Given the description of an element on the screen output the (x, y) to click on. 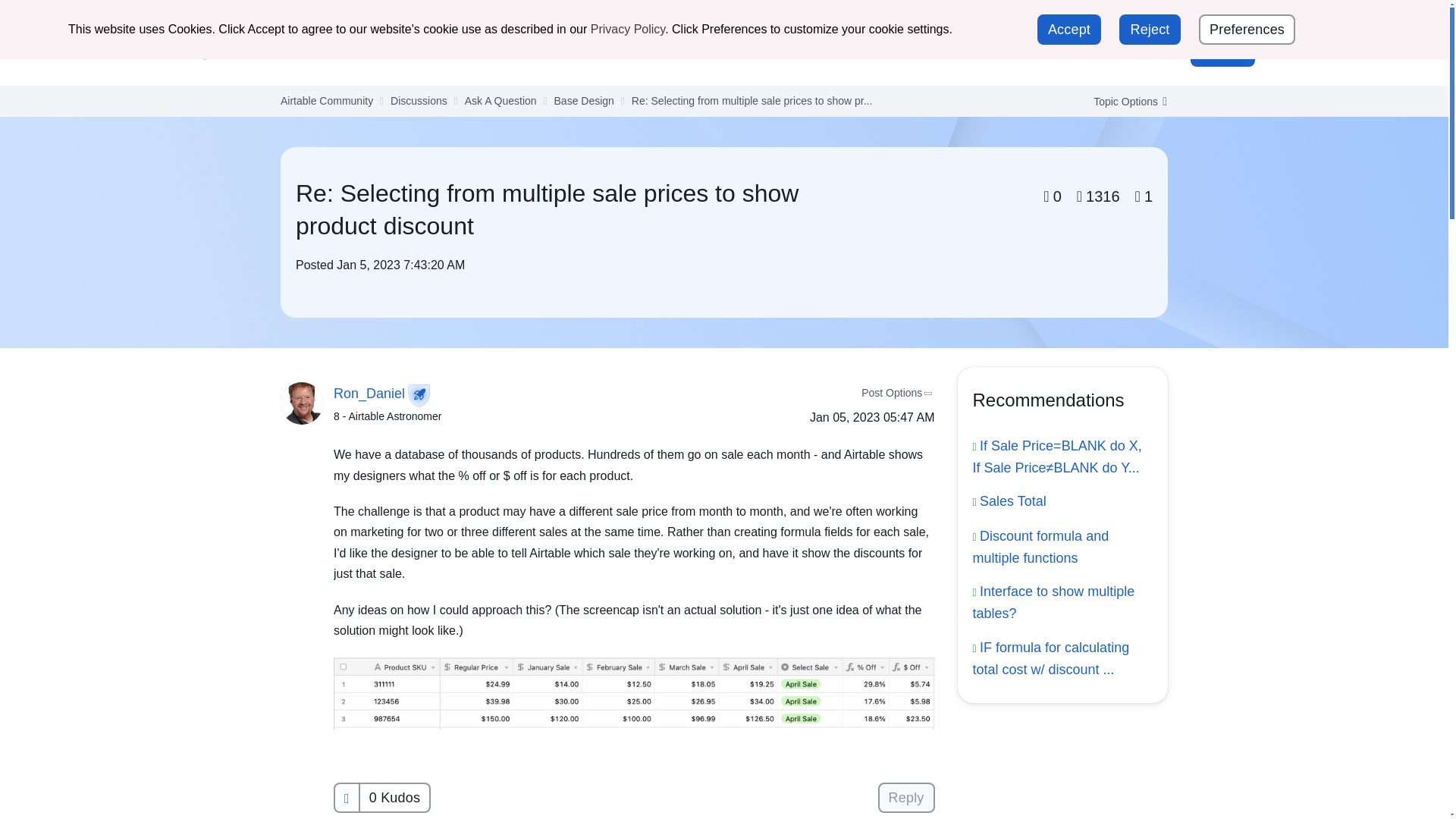
Privacy Policy (628, 29)
Sign up for Airtable (1204, 17)
Groups (597, 50)
Accept (1068, 29)
Airtable Community (269, 51)
Support (1104, 17)
Discussions (519, 50)
Resources (734, 50)
Announcements (417, 50)
Product Ideas (826, 50)
Show option menu (1125, 101)
Reject (1149, 29)
Preferences (1246, 29)
Events (661, 50)
Search (1114, 51)
